Given the description of an element on the screen output the (x, y) to click on. 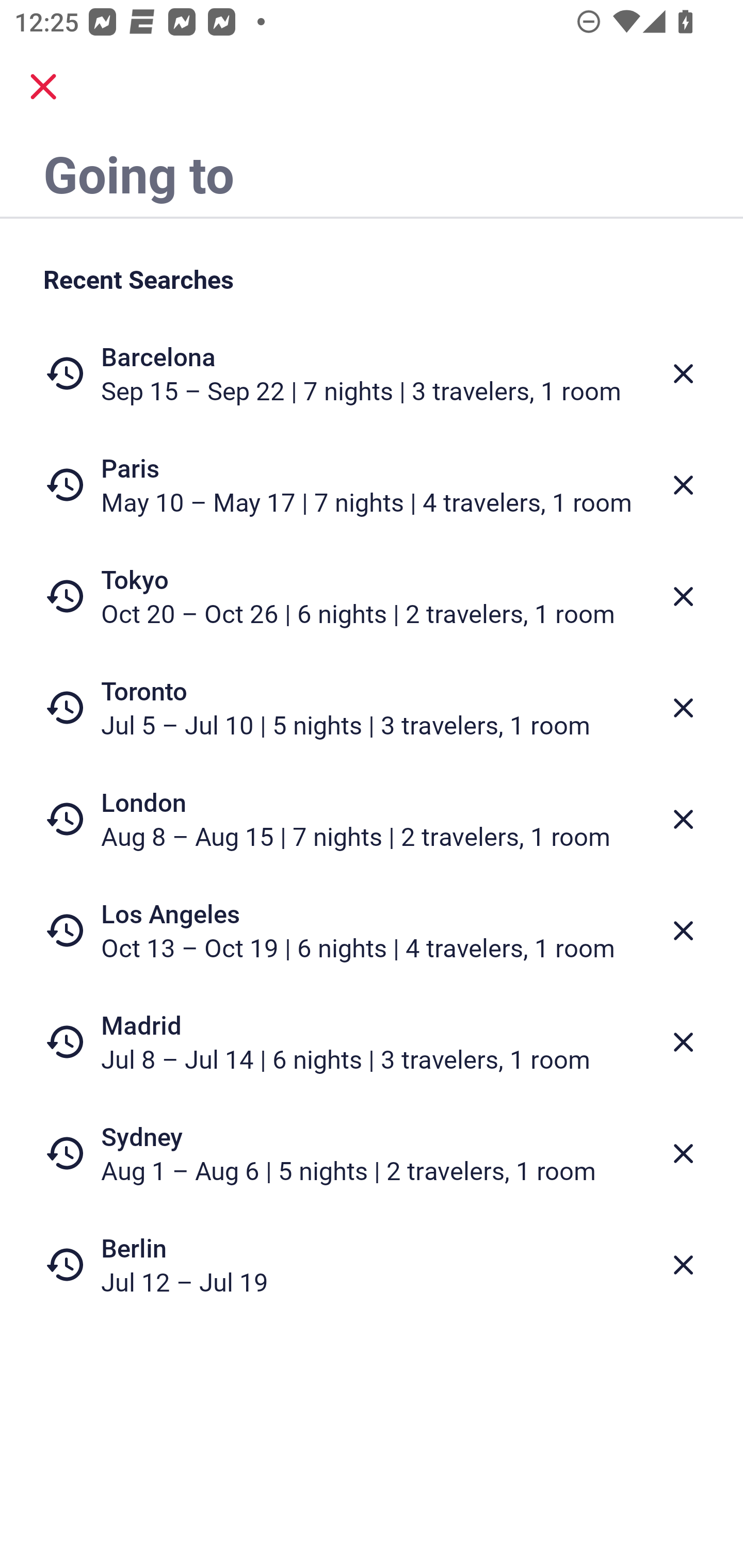
close. (43, 86)
Delete from recent searches (683, 373)
Delete from recent searches (683, 485)
Delete from recent searches (683, 596)
Delete from recent searches (683, 707)
Delete from recent searches (683, 819)
Delete from recent searches (683, 930)
Delete from recent searches (683, 1041)
Delete from recent searches (683, 1153)
Berlin Jul 12 – Jul 19 (371, 1264)
Delete from recent searches (683, 1265)
